Given the description of an element on the screen output the (x, y) to click on. 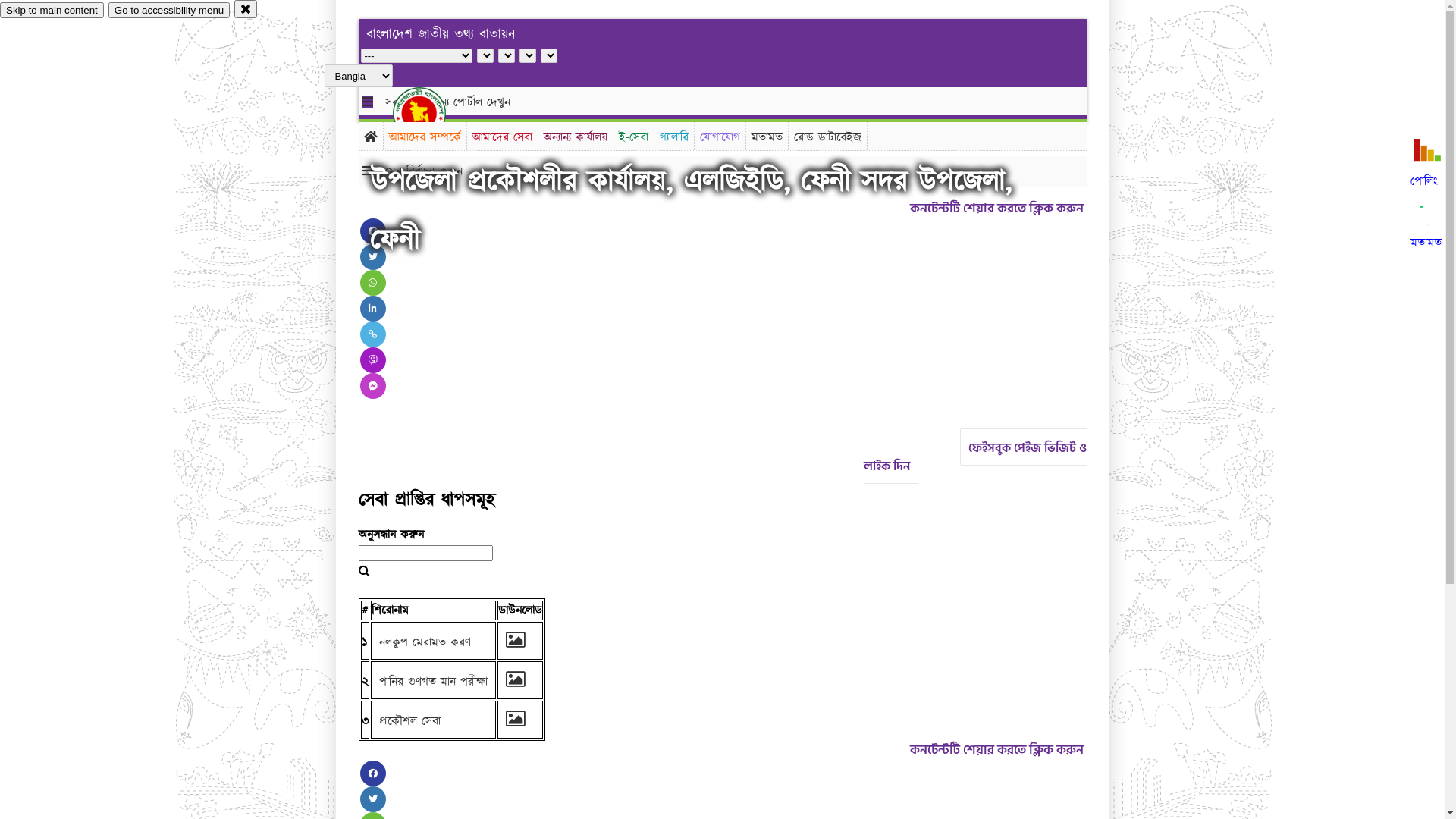

                
             Element type: hover (431, 112)
Skip to main content Element type: text (51, 10)
Go to accessibility menu Element type: text (168, 10)
Stem_2.jpg Element type: hover (514, 720)
close Element type: hover (245, 9)
